Given the description of an element on the screen output the (x, y) to click on. 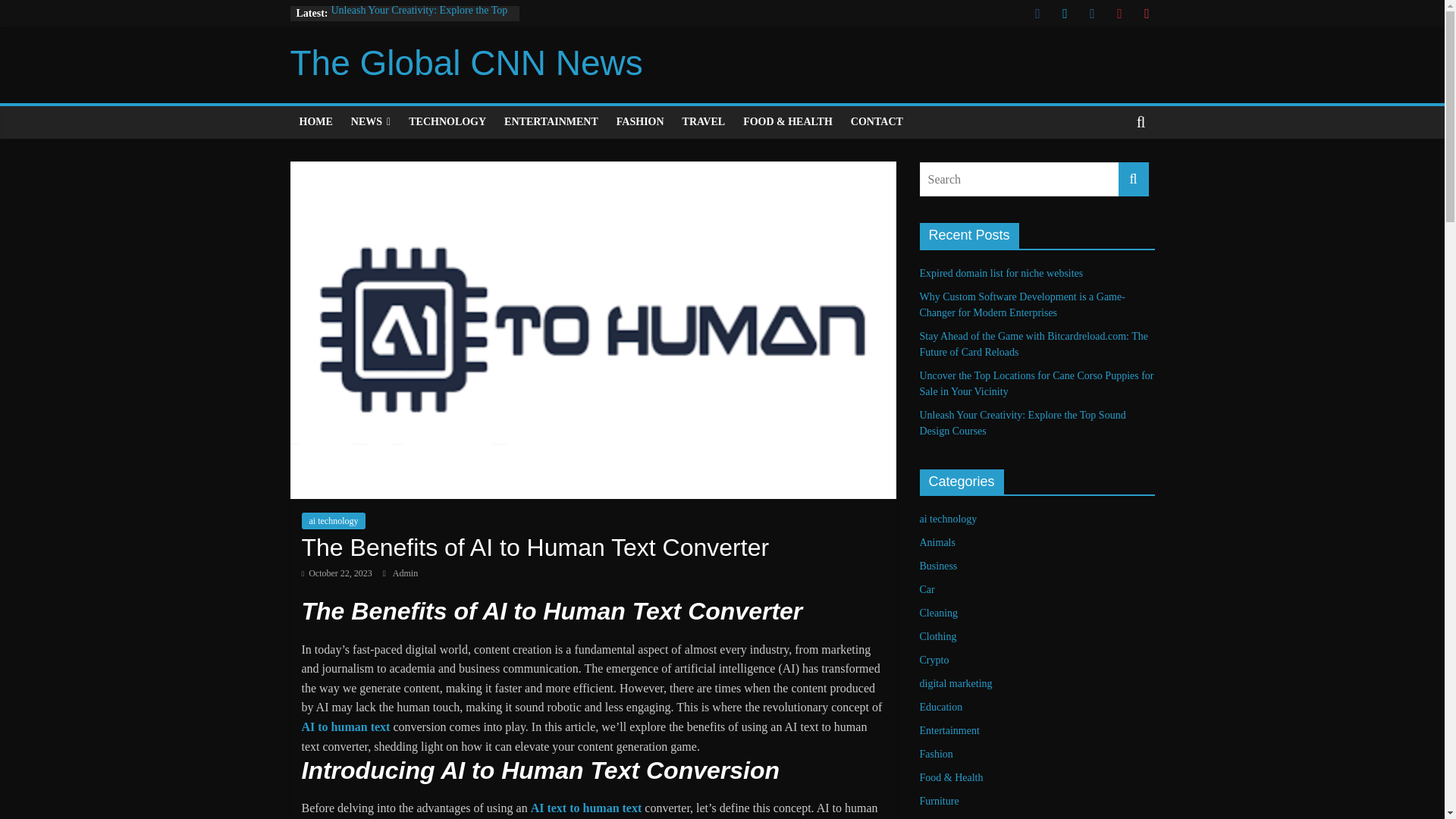
ai technology (333, 520)
AI text to human text (586, 807)
The Global CNN News (465, 62)
Business (937, 565)
HOME (314, 122)
11:16 am (336, 573)
Expired domain list for niche websites (1000, 273)
